Given the description of an element on the screen output the (x, y) to click on. 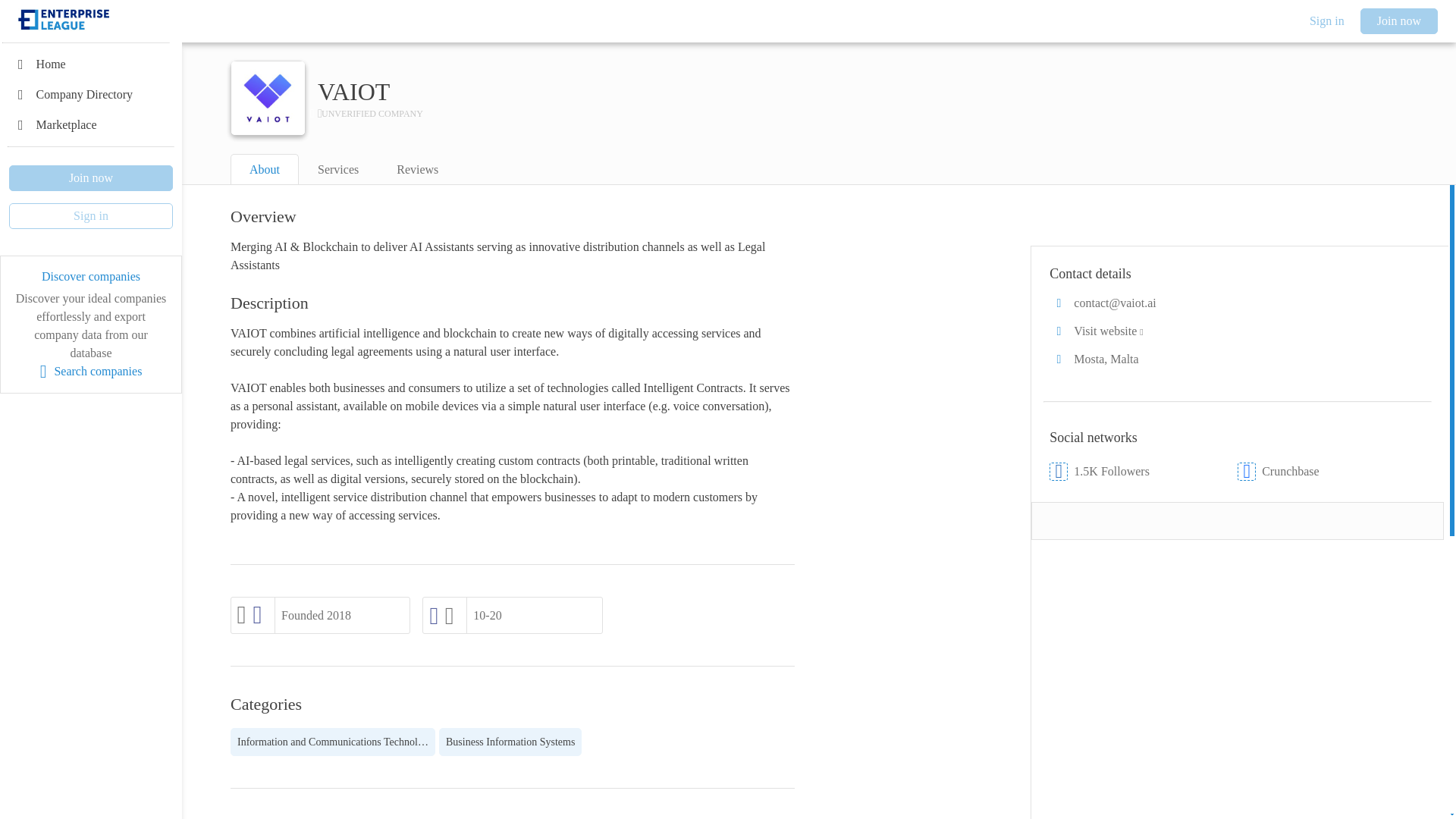
Business Information Systems (509, 741)
Join now (90, 177)
1.5K Followers (1143, 471)
Home (91, 64)
Join now (1398, 21)
Sign in (1327, 21)
Sign in (90, 216)
Crunchbase (1331, 471)
Marketplace (91, 124)
Business Information Systems (509, 741)
Company Directory (91, 94)
Visit website (1237, 331)
